Given the description of an element on the screen output the (x, y) to click on. 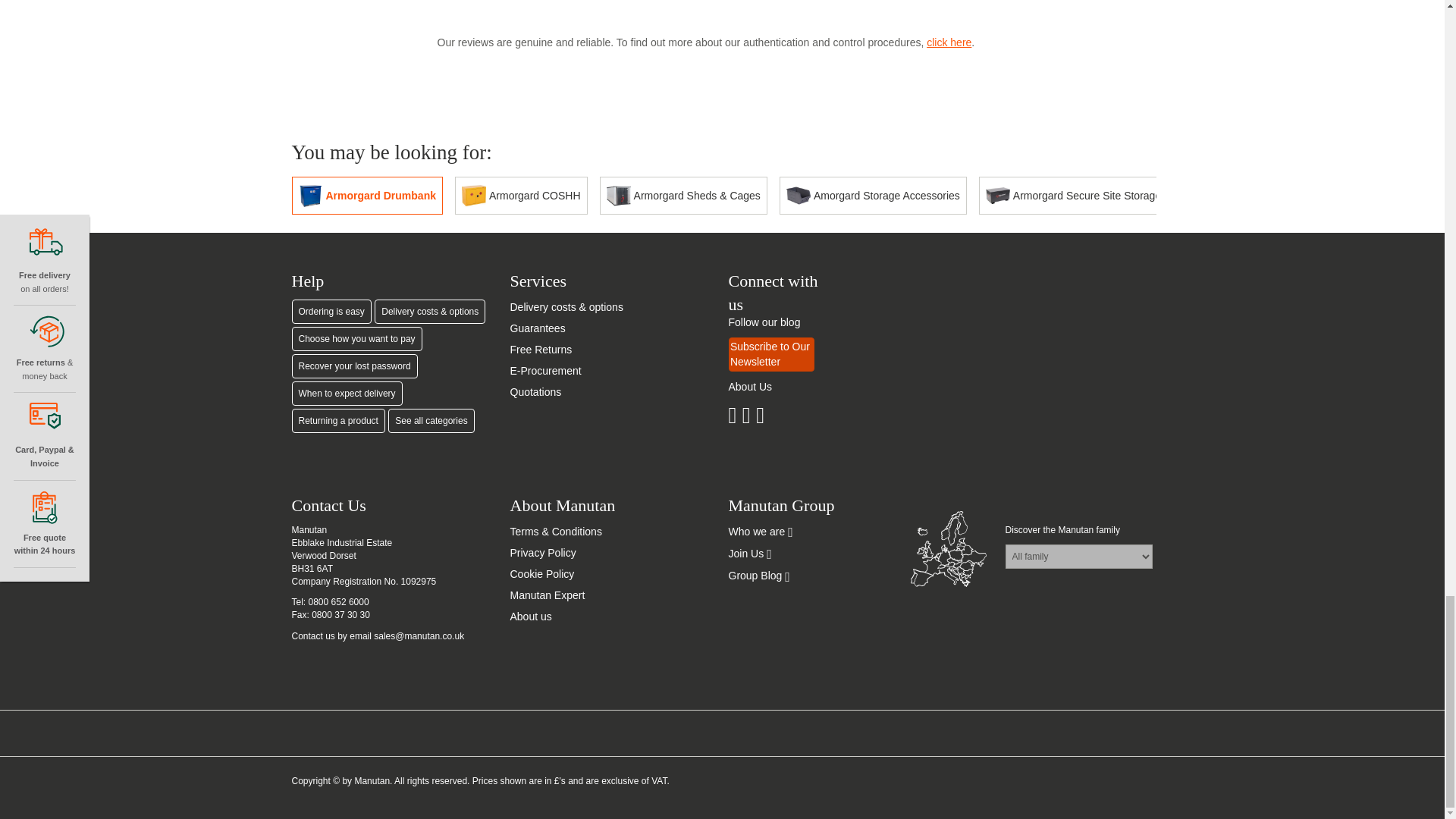
View our blog (763, 322)
